Given the description of an element on the screen output the (x, y) to click on. 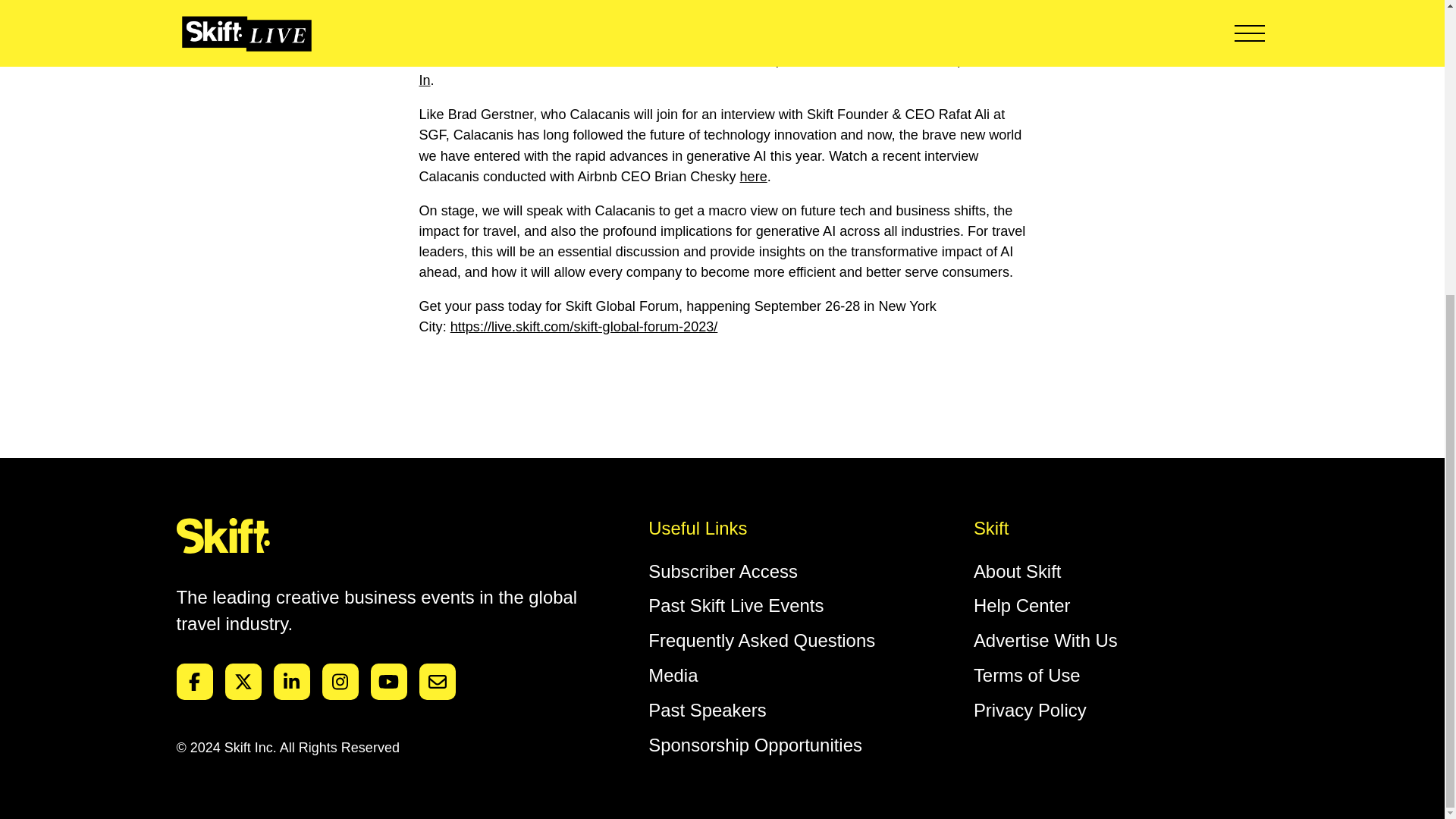
Help Center (1022, 605)
This Week in Startups (905, 59)
Calacanis (489, 38)
Privacy Policy (1030, 710)
Media (672, 675)
Subscriber Access (722, 571)
here (753, 176)
Frequently Asked Questions (761, 639)
All-In (719, 69)
Terms of Use (1027, 675)
